Given the description of an element on the screen output the (x, y) to click on. 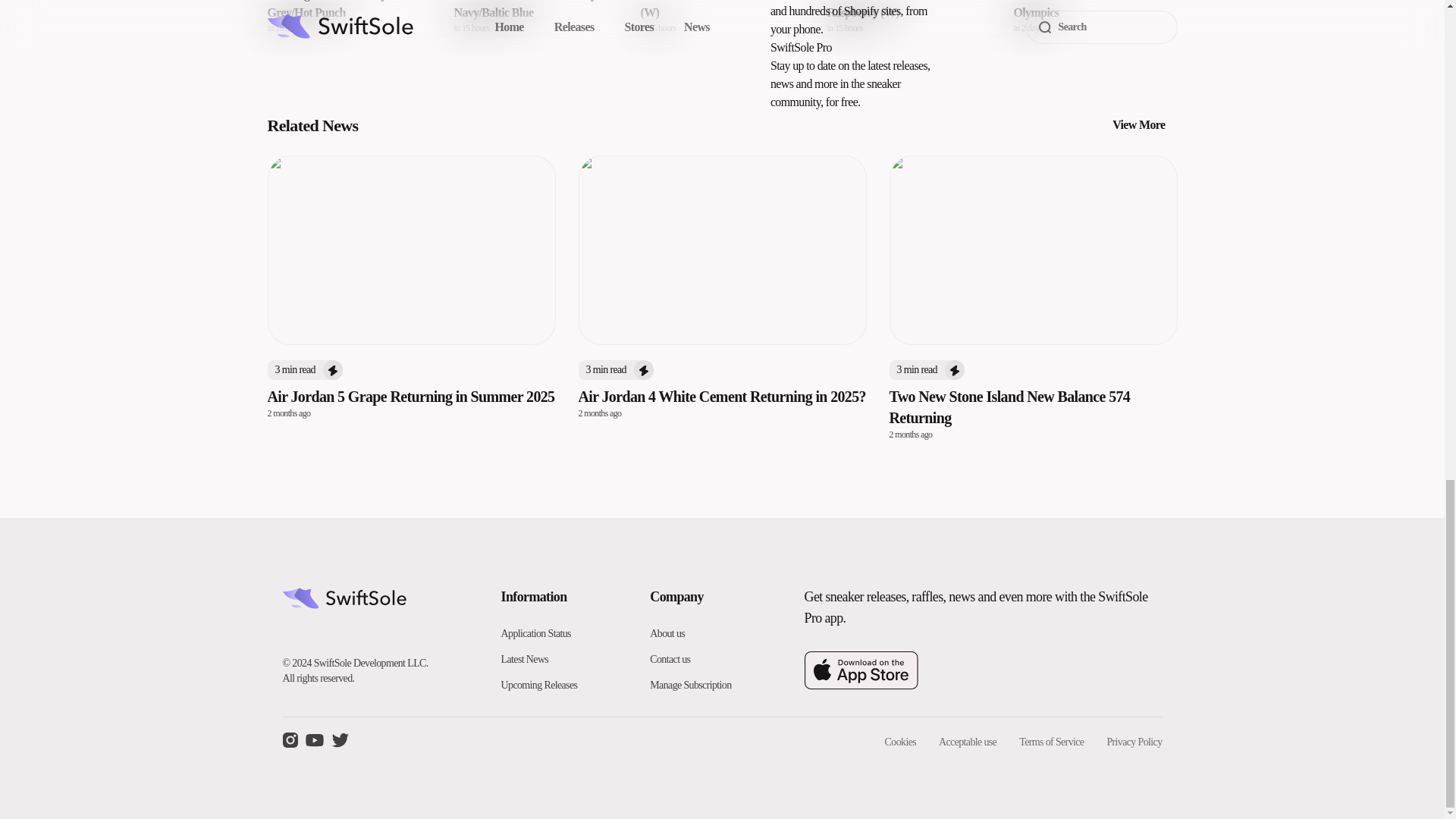
View More (1138, 124)
